Given the description of an element on the screen output the (x, y) to click on. 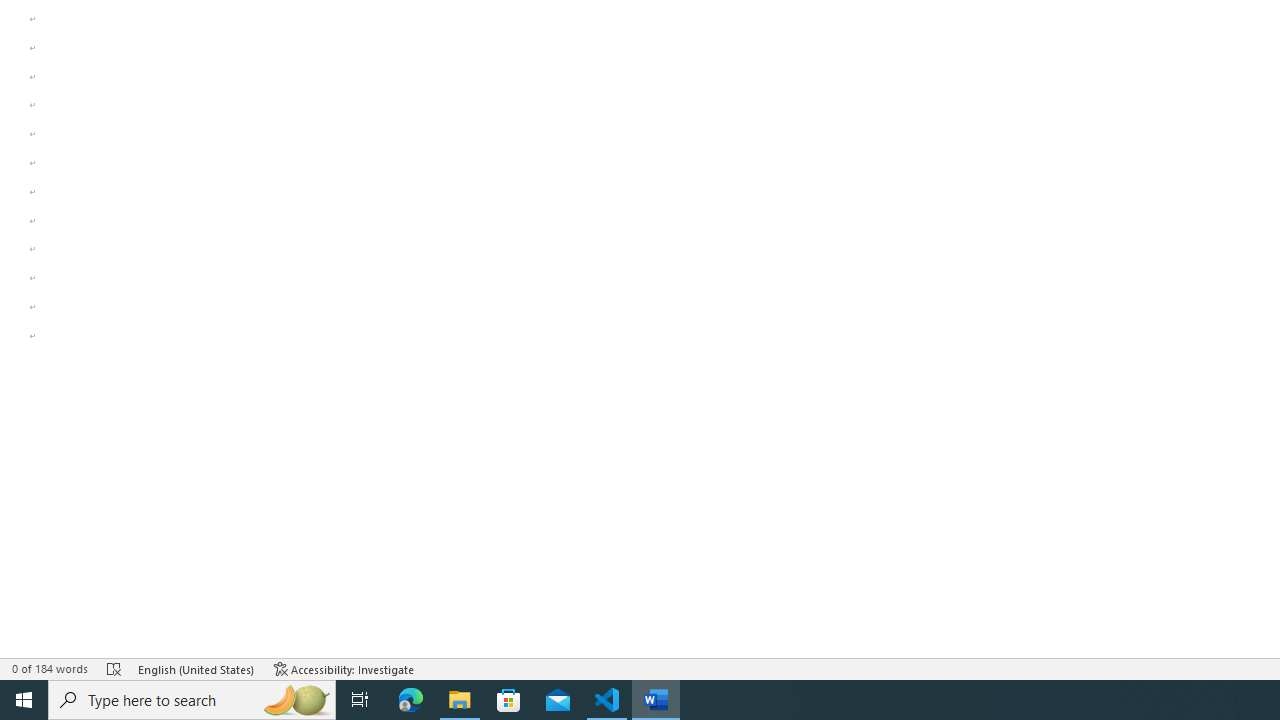
Language English (United States) (196, 668)
Spelling and Grammar Check Errors (114, 668)
Word Count 0 of 184 words (49, 668)
Accessibility Checker Accessibility: Investigate (344, 668)
